Given the description of an element on the screen output the (x, y) to click on. 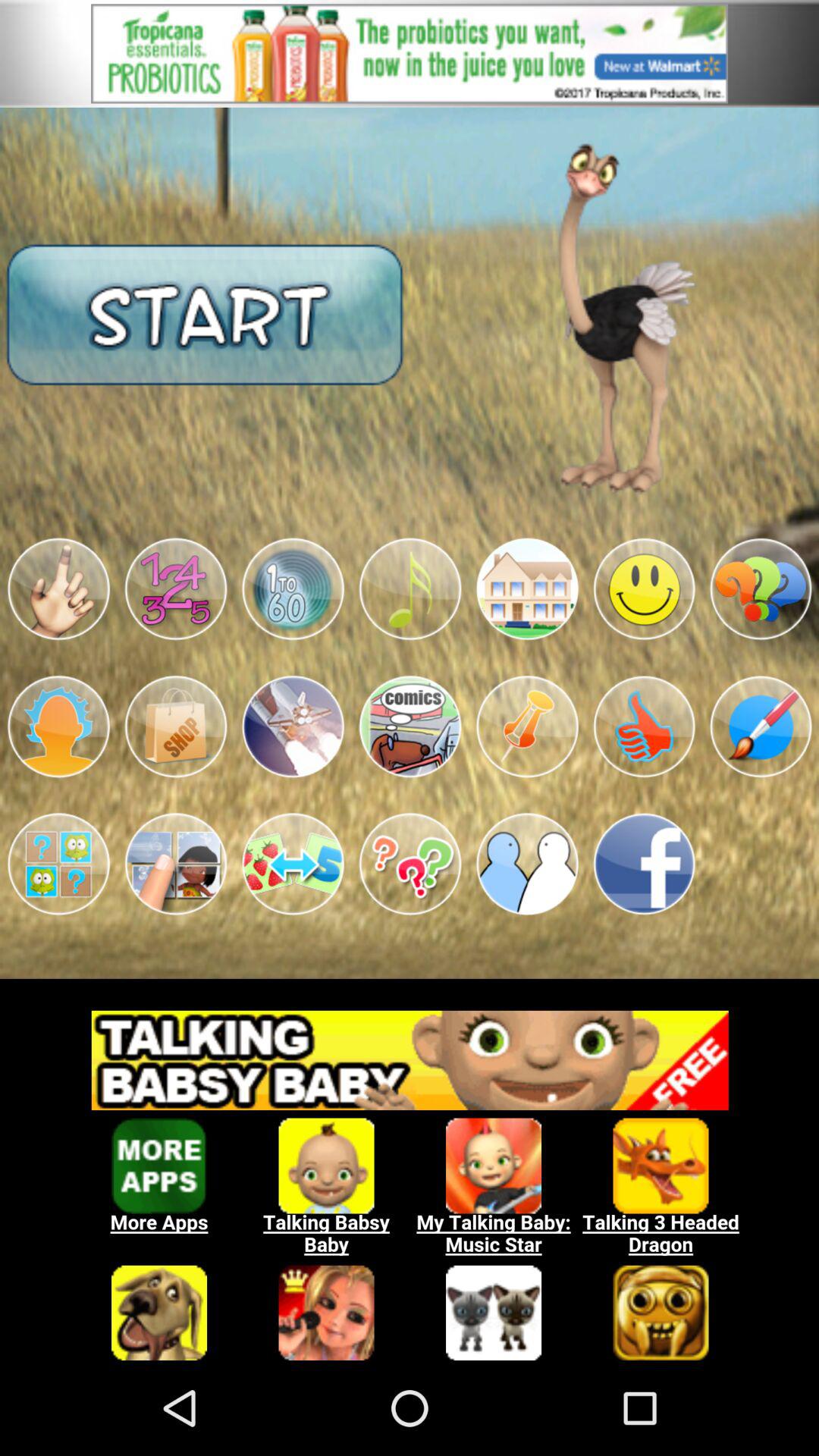
music button (409, 589)
